Given the description of an element on the screen output the (x, y) to click on. 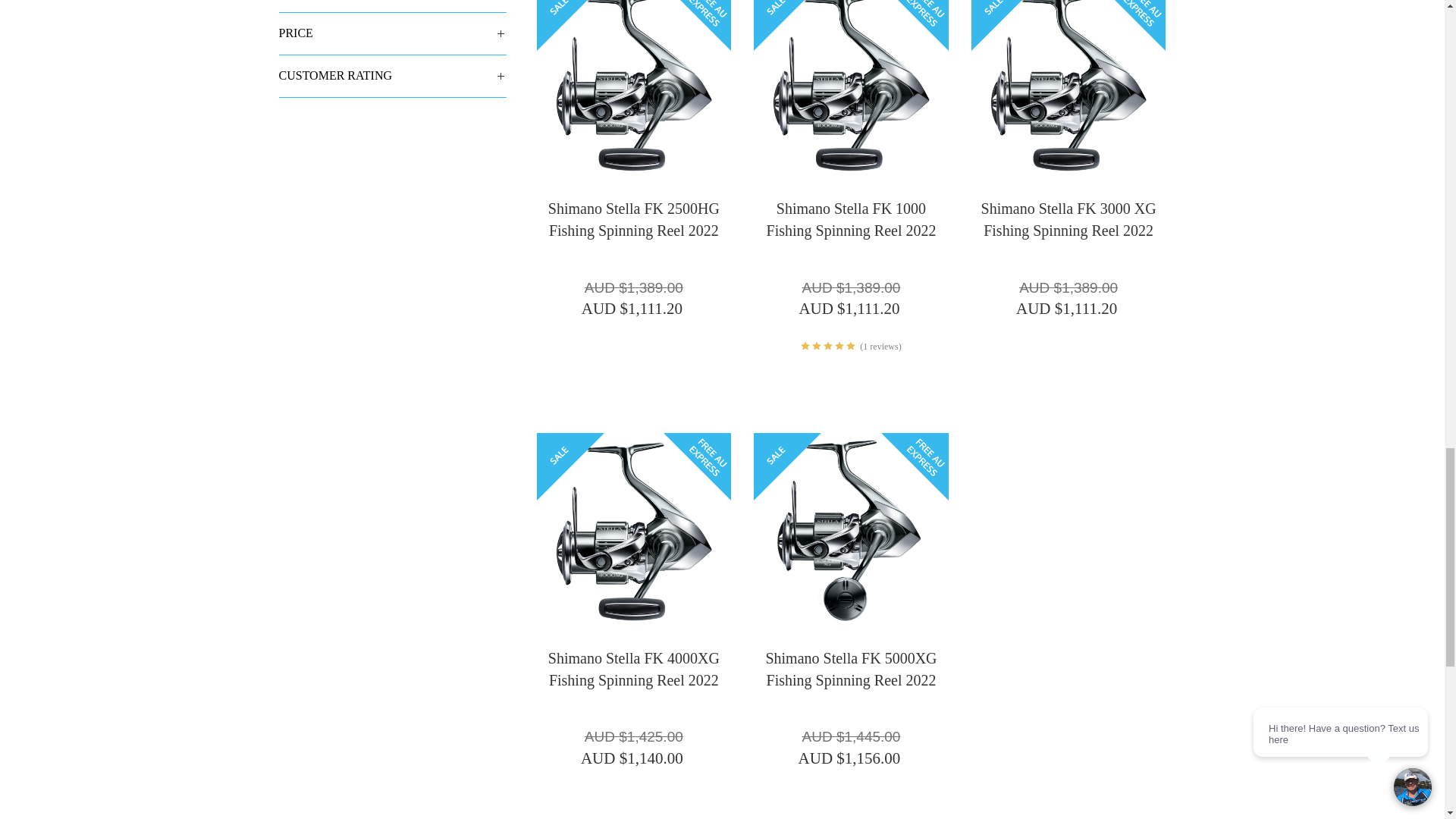
Star (816, 345)
Star (804, 345)
Star (828, 345)
Star (839, 345)
Star (850, 345)
